Given the description of an element on the screen output the (x, y) to click on. 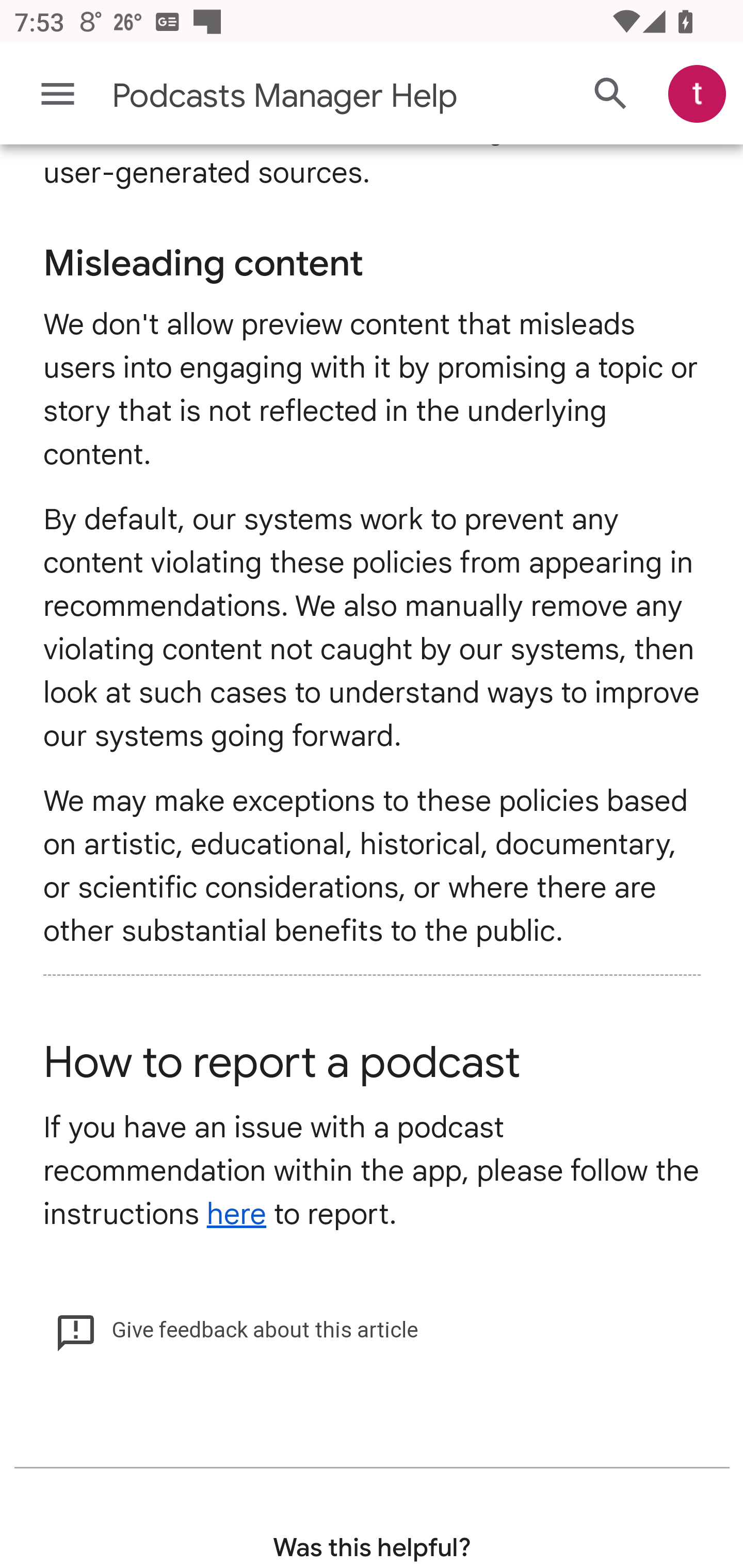
Main menu (58, 94)
Podcasts Manager Help (292, 96)
Search Help Center (611, 94)
here (236, 1215)
Give feedback about this article (236, 1331)
